Given the description of an element on the screen output the (x, y) to click on. 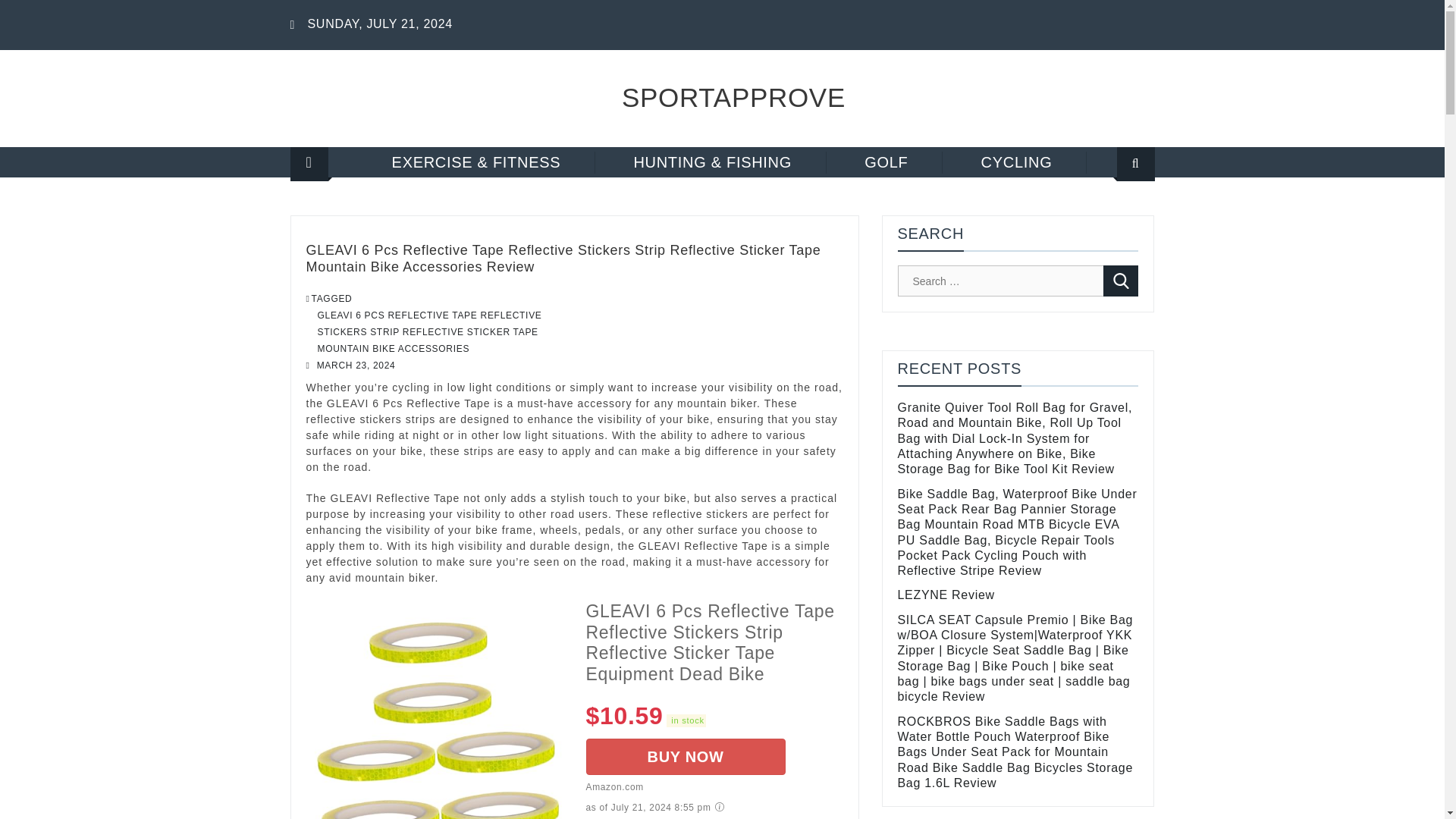
Search (1120, 280)
Search (1116, 211)
SPORTAPPROVE (733, 97)
GOLF (885, 162)
Last updated on July 21, 2024 8:55 pm (686, 720)
Search (1120, 280)
MARCH 23, 2024 (356, 365)
CYCLING (1017, 162)
BUY NOW (684, 756)
